Given the description of an element on the screen output the (x, y) to click on. 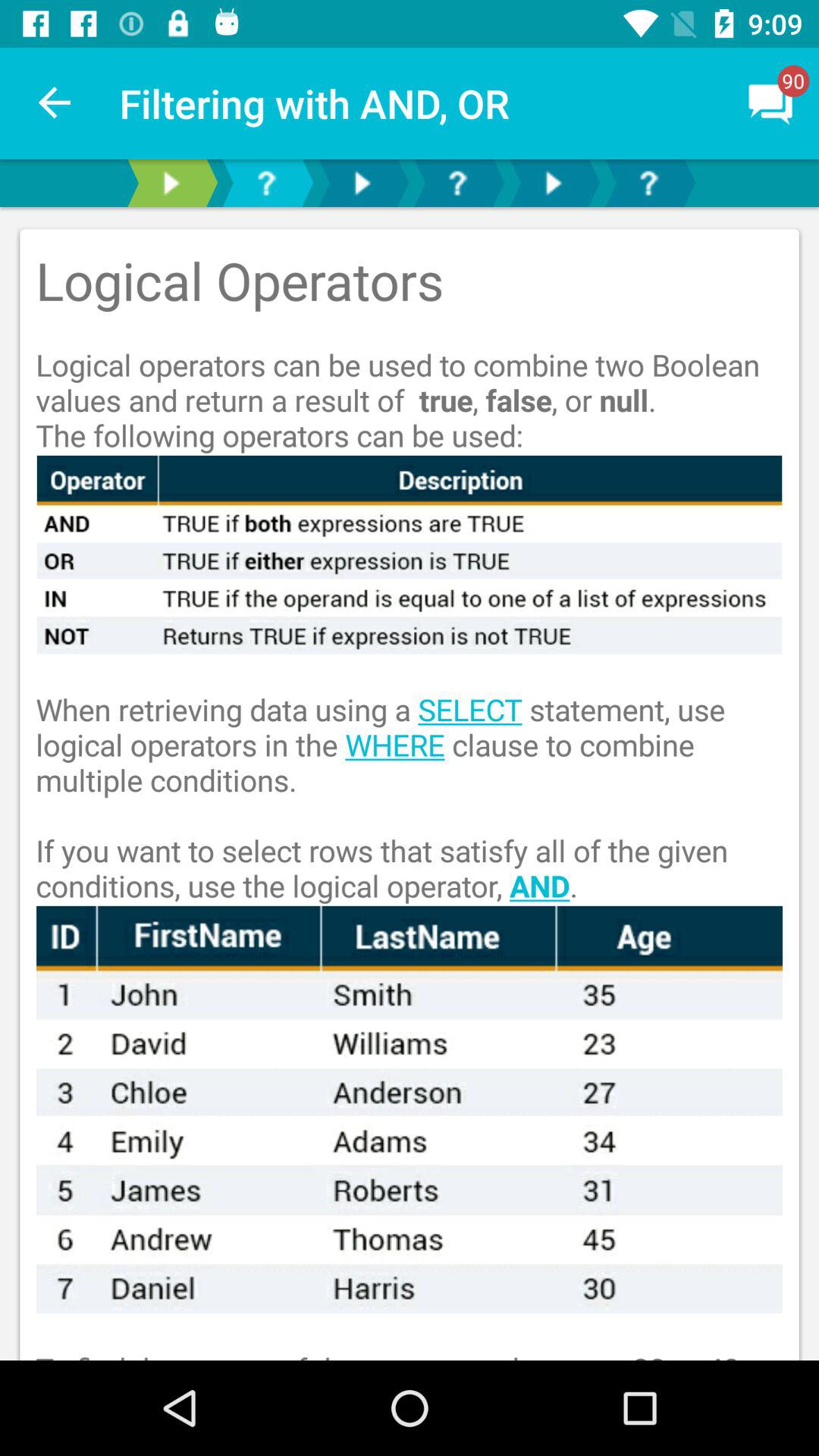
go forward (170, 183)
